Given the description of an element on the screen output the (x, y) to click on. 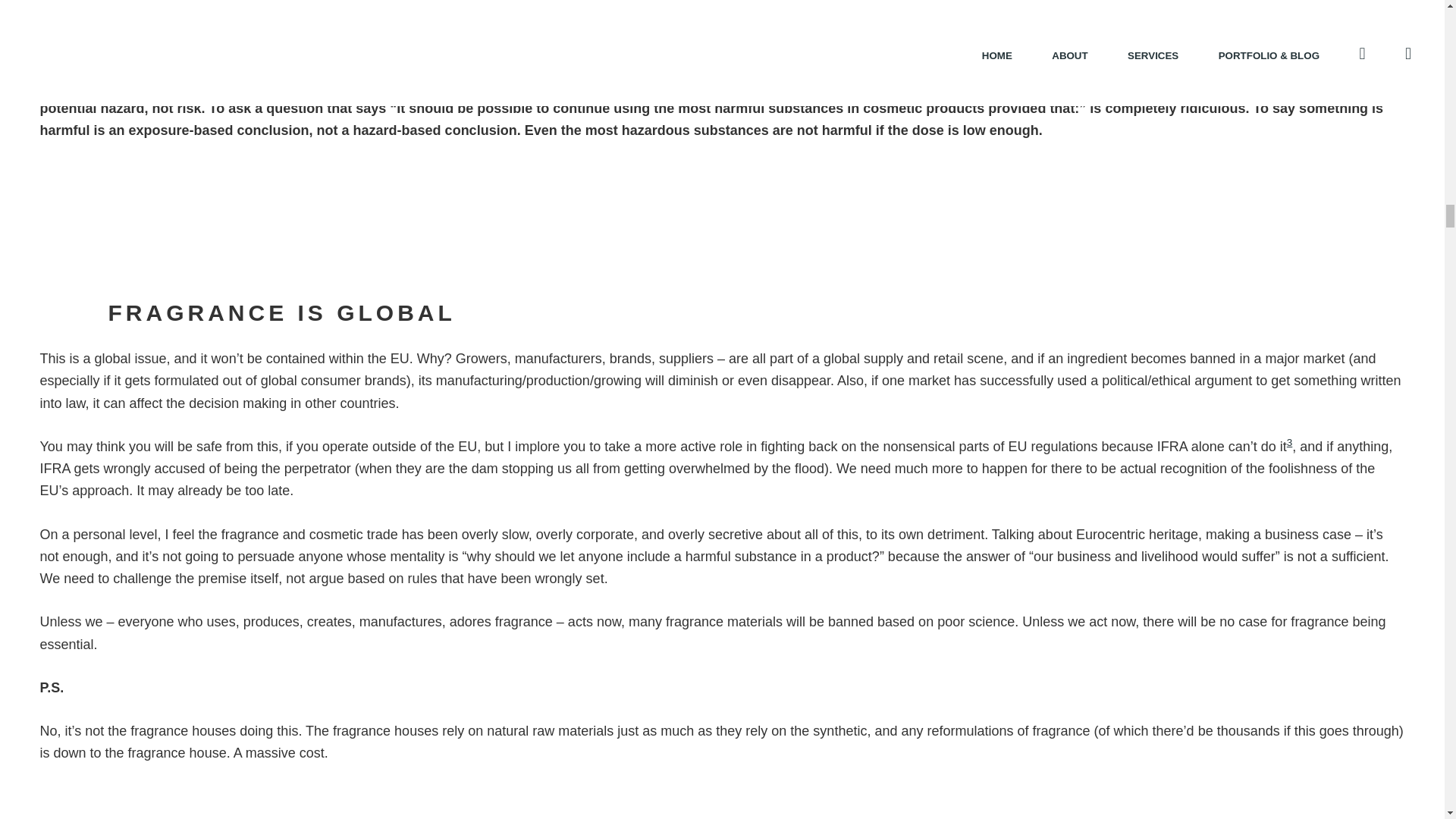
3 (1289, 441)
